Given the description of an element on the screen output the (x, y) to click on. 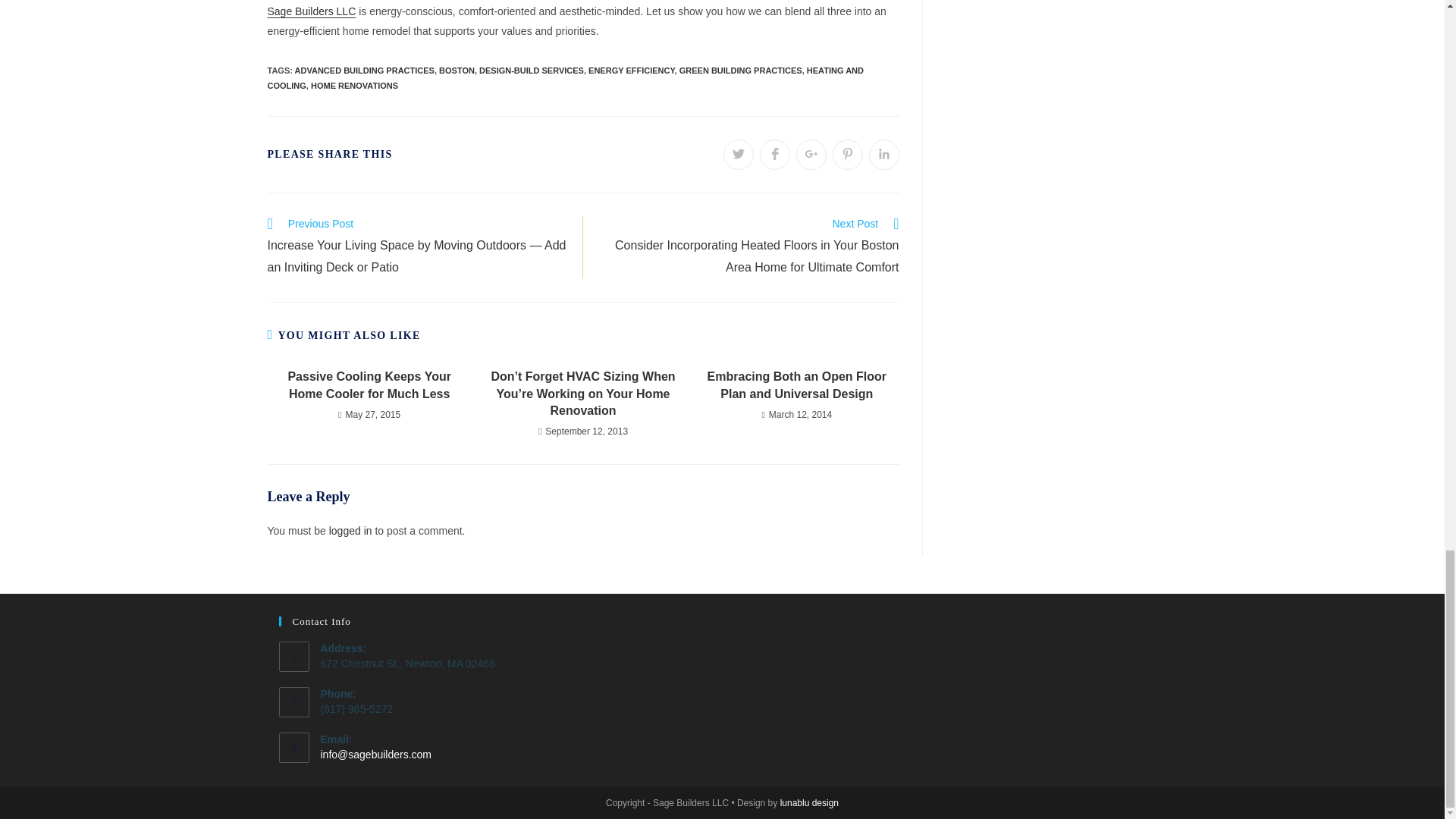
lunablu design (809, 802)
